Given the description of an element on the screen output the (x, y) to click on. 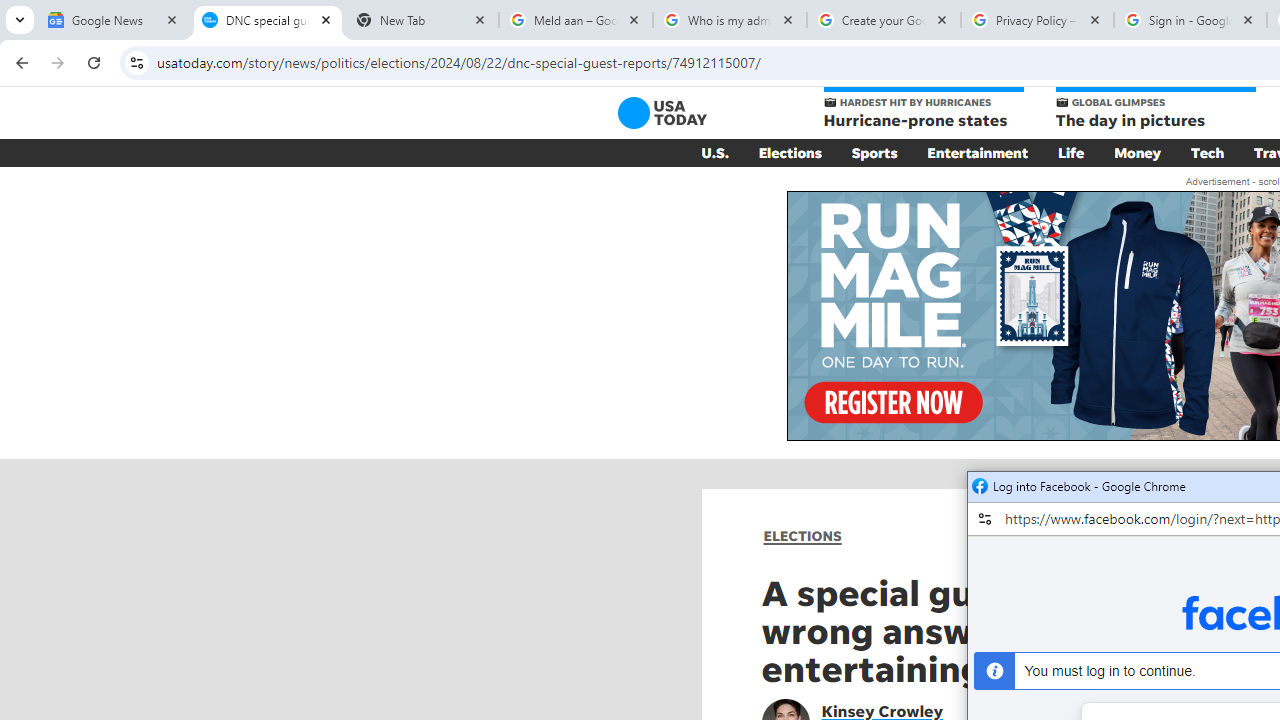
ELECTIONS (802, 536)
Who is my administrator? - Google Account Help (729, 20)
Sports (873, 152)
New Tab (421, 20)
